Given the description of an element on the screen output the (x, y) to click on. 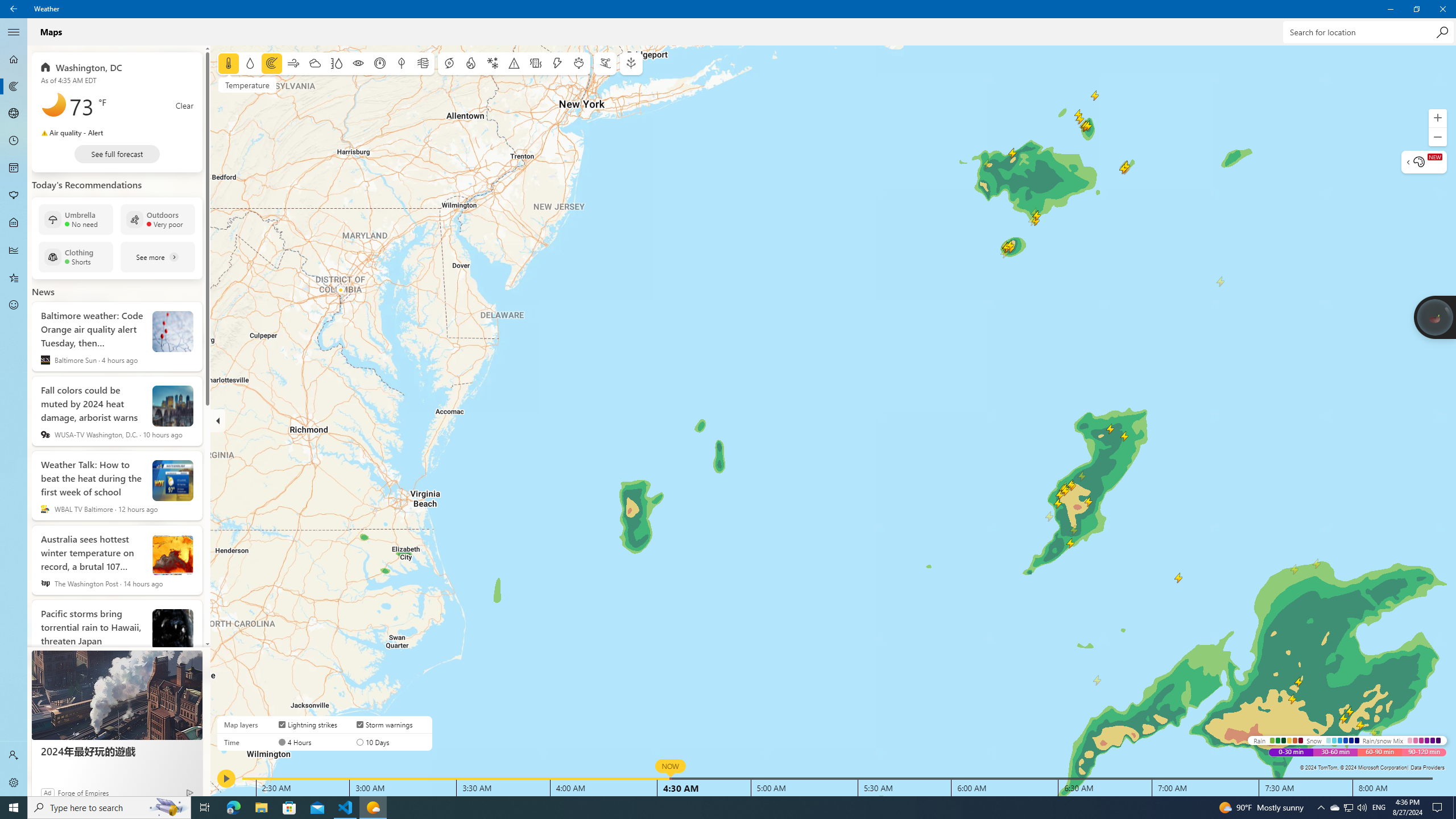
Forecast - Not Selected (13, 58)
Monthly Forecast - Not Selected (13, 167)
Visual Studio Code - 1 running window (345, 807)
Send Feedback - Not Selected (1347, 807)
Send Feedback - Not Selected (13, 304)
Type here to search (13, 304)
Q2790: 100% (108, 807)
Pollen - Not Selected (1361, 807)
Start (13, 195)
Microsoft Store (13, 807)
Back (289, 807)
Search (13, 9)
Monthly Forecast - Not Selected (1442, 31)
